Given the description of an element on the screen output the (x, y) to click on. 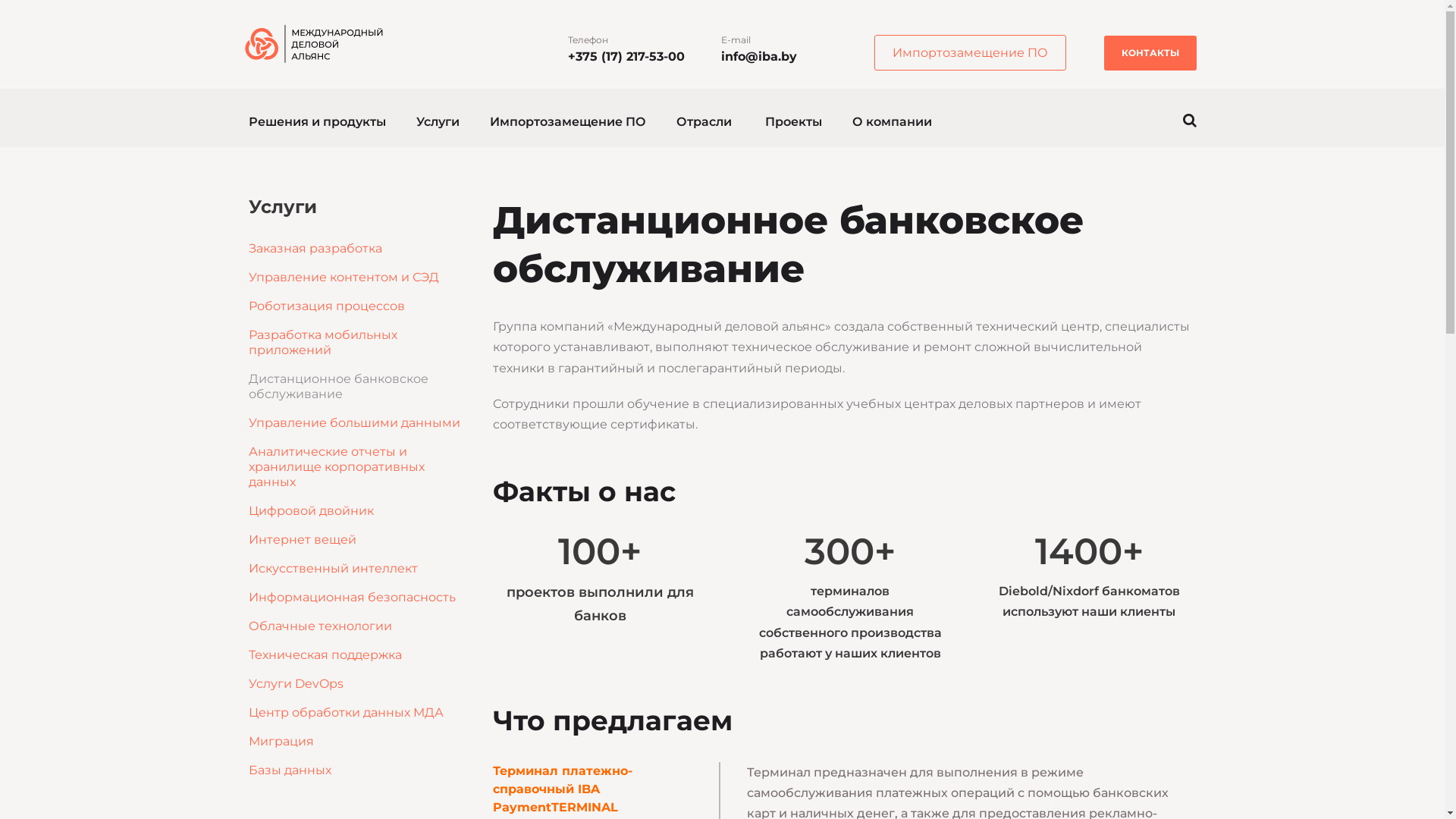
info@iba.by Element type: text (758, 56)
+375 (17) 217-53-00 Element type: text (625, 56)
logo-mda Element type: hover (316, 43)
